Given the description of an element on the screen output the (x, y) to click on. 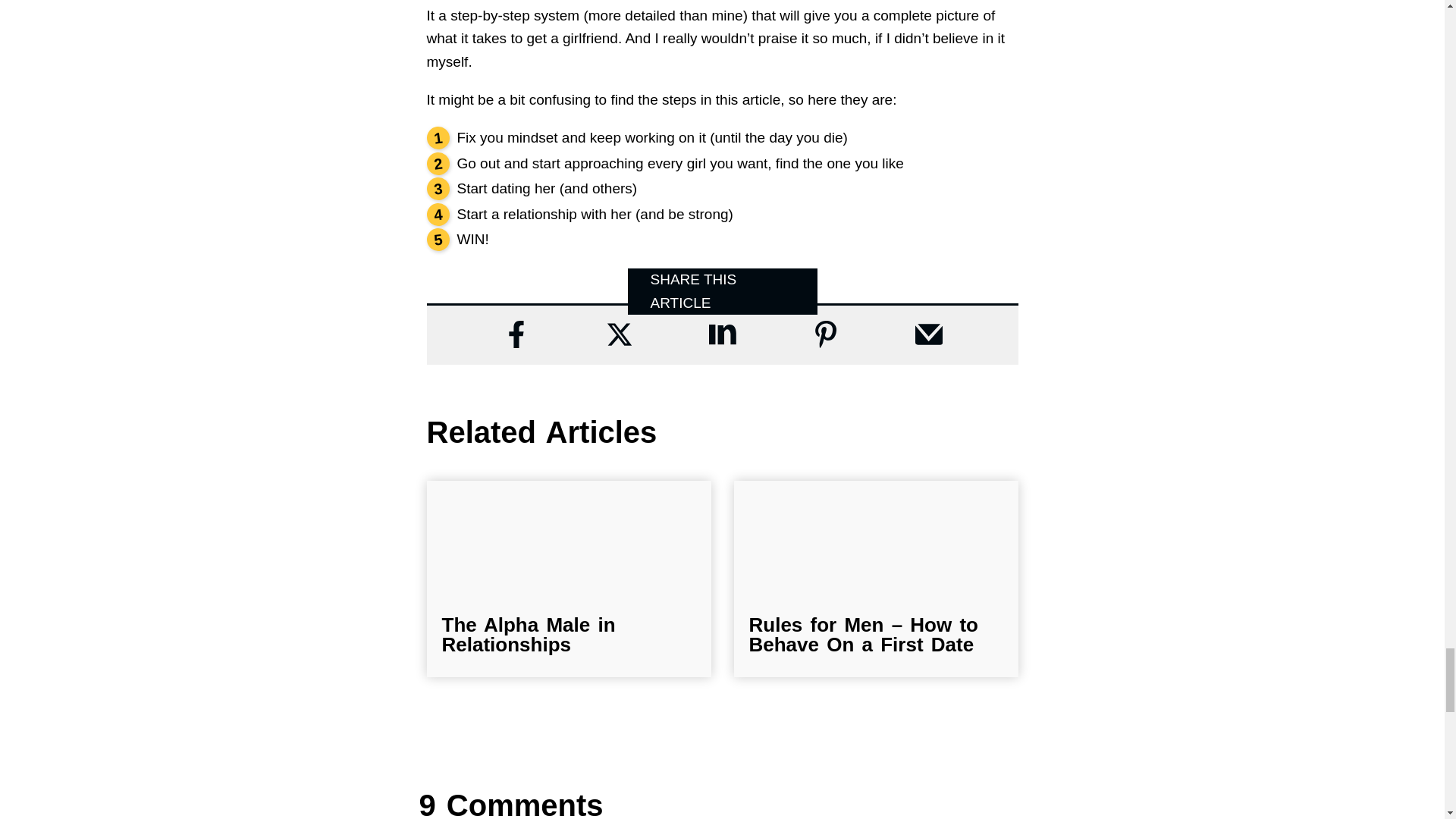
The Alpha Male in Relationships (568, 578)
